Given the description of an element on the screen output the (x, y) to click on. 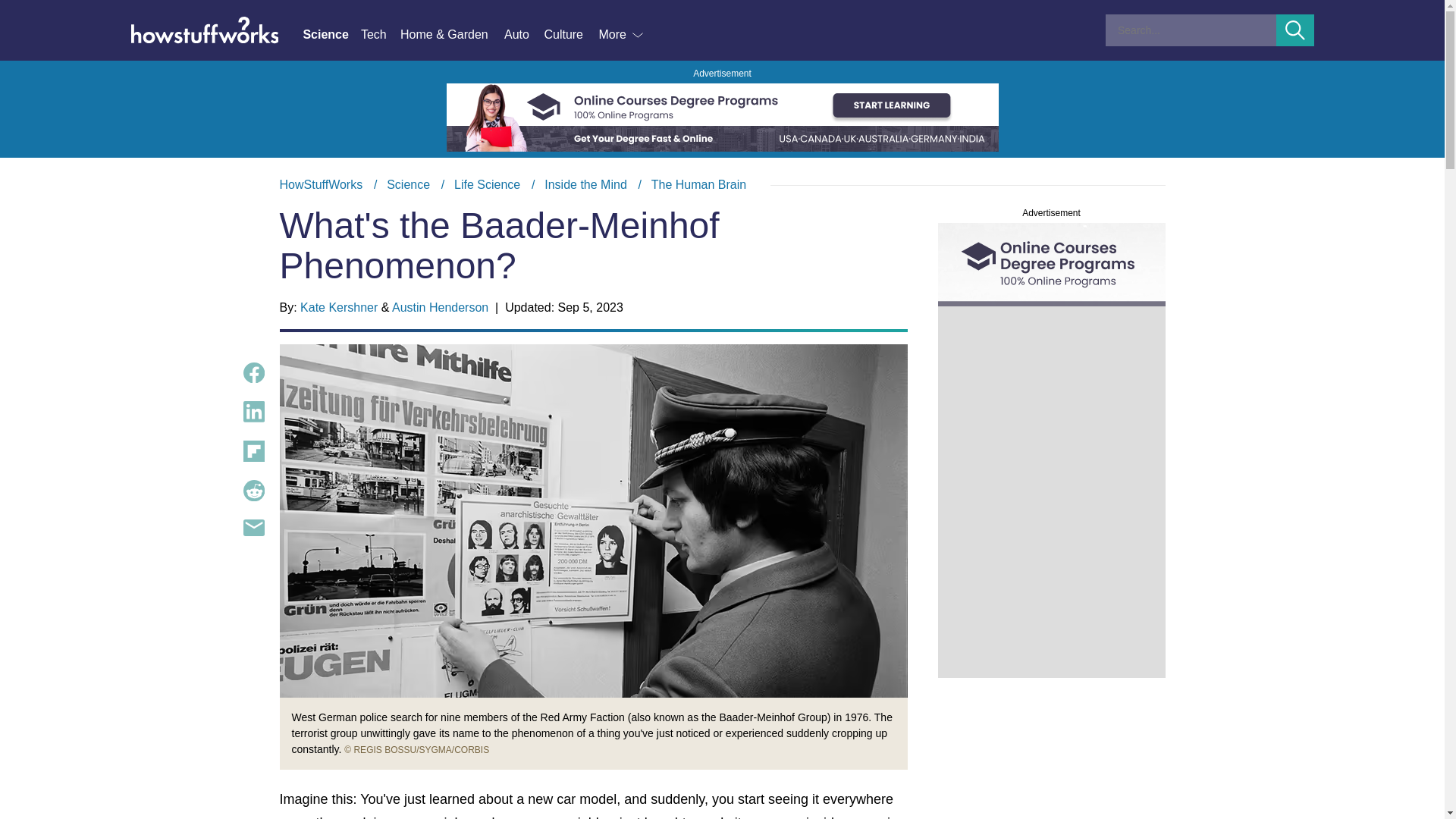
Submit Search (1295, 29)
HowStuffWorks (320, 184)
Life Science (486, 184)
Tech (380, 34)
Inside the Mind (585, 184)
Science (330, 34)
Share Content via Email (253, 527)
More (621, 34)
Auto (523, 34)
Share Content on Flipboard (253, 450)
Culture (570, 34)
Science (408, 184)
Share Content on Reddit (253, 490)
Share Content on Facebook (253, 372)
